Given the description of an element on the screen output the (x, y) to click on. 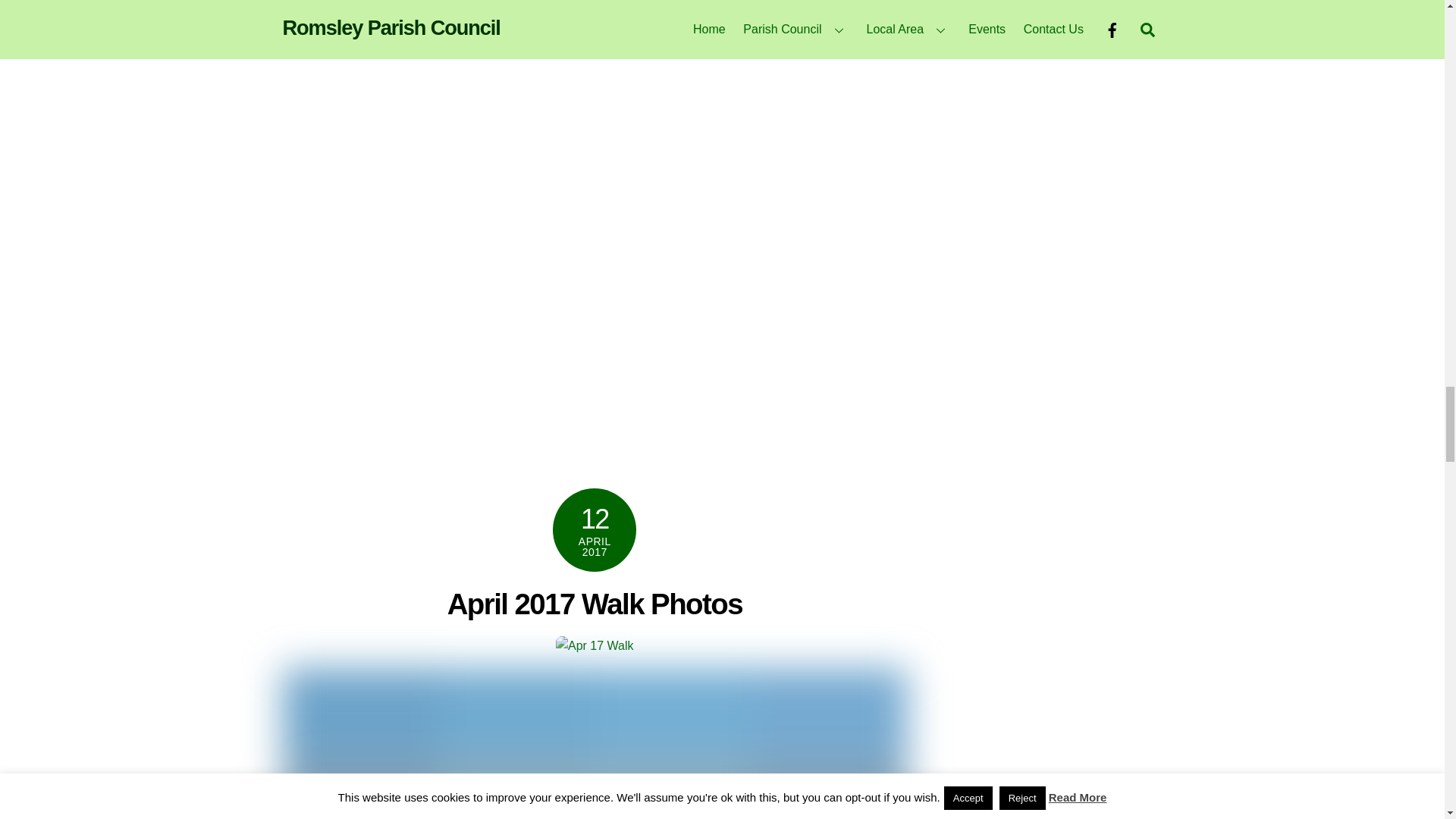
Apr 17 Walk (594, 646)
April 2017 Walk Photos (594, 603)
